Given the description of an element on the screen output the (x, y) to click on. 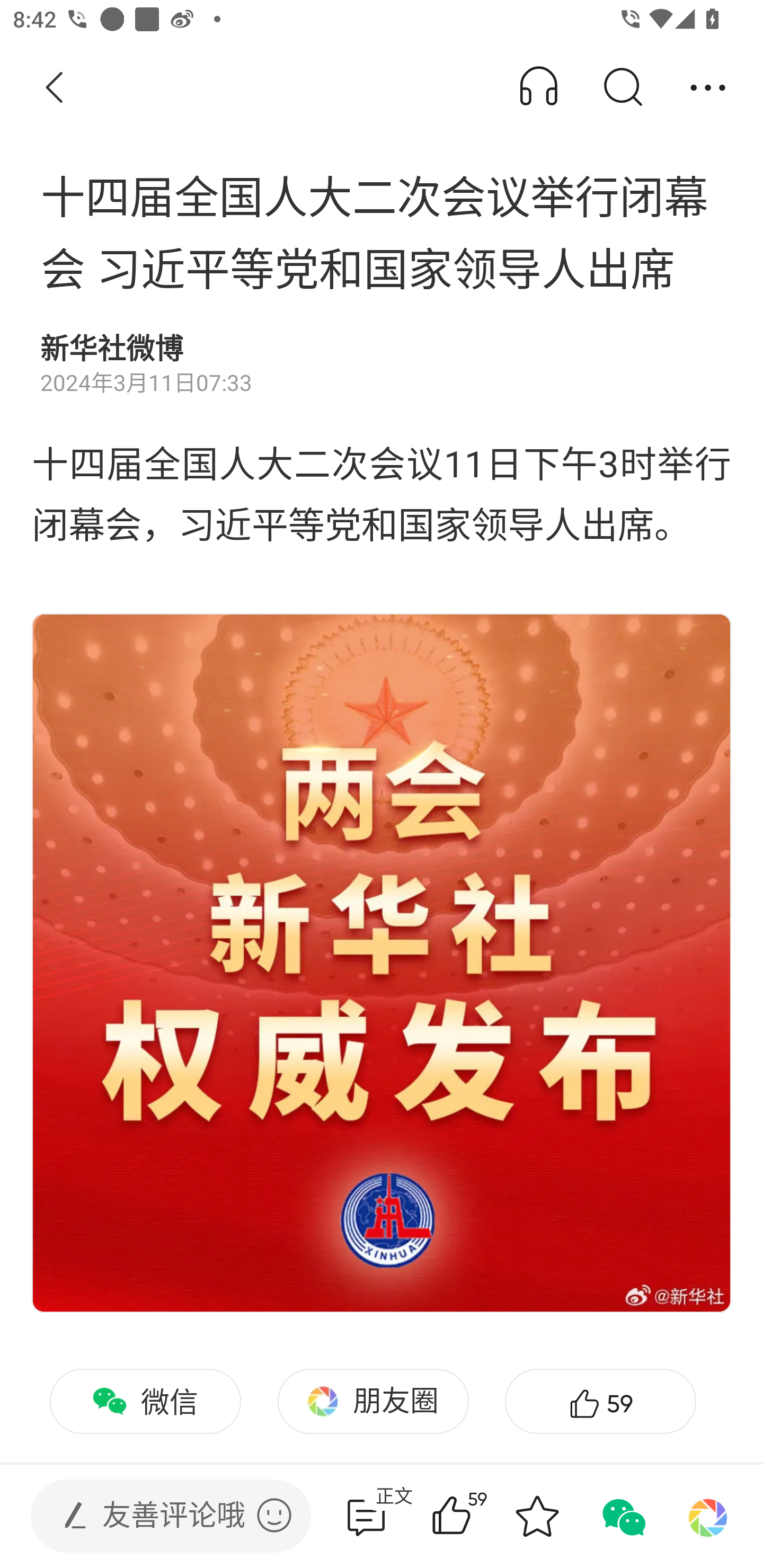
搜索  (622, 87)
分享  (707, 87)
 返回 (54, 87)
新华社微博 2024年3月11日07:33 (381, 364)
新闻图片 (381, 962)
微信 分享到微信 (145, 1401)
朋友圈 分享到朋友圈 (373, 1401)
59赞 (600, 1401)
发表评论  友善评论哦 发表评论  (155, 1516)
22评论  正文 正文 (365, 1516)
59赞 (476, 1516)
收藏  (536, 1516)
分享到微信  (622, 1516)
分享到朋友圈 (707, 1516)
 (274, 1515)
